Given the description of an element on the screen output the (x, y) to click on. 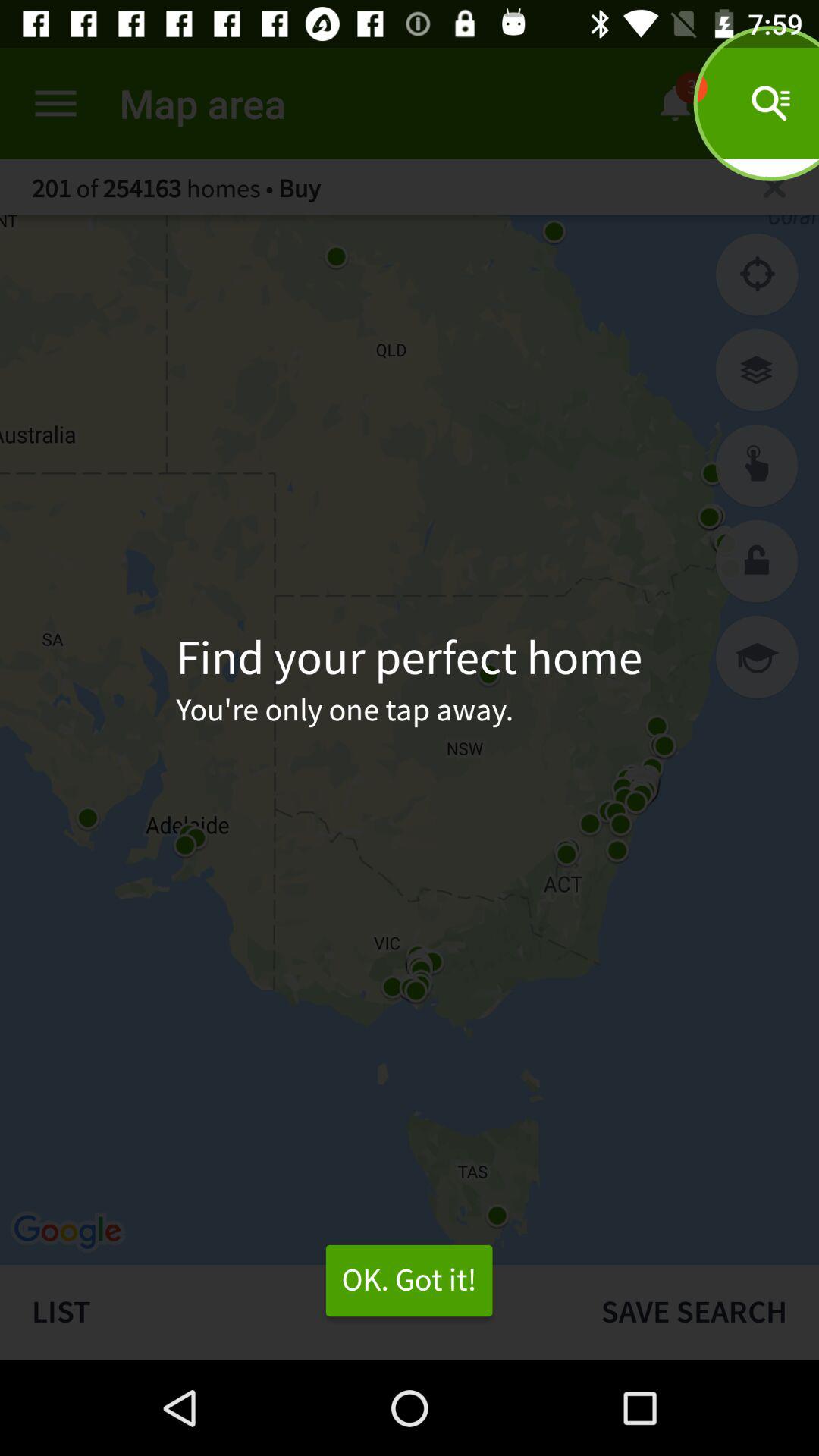
click icon below 201 of 254163 (756, 274)
